Given the description of an element on the screen output the (x, y) to click on. 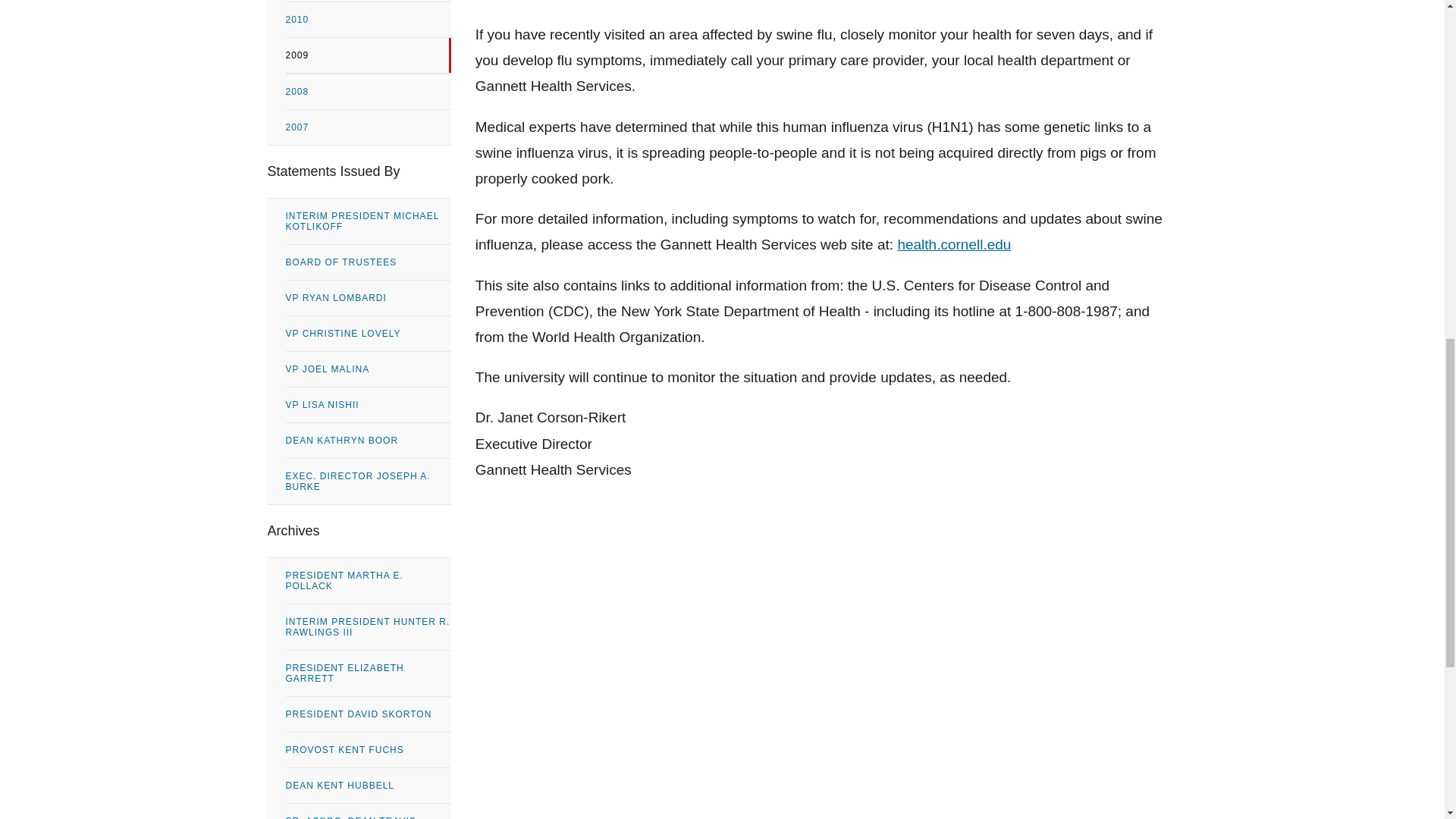
2007 (367, 126)
2009 (367, 54)
2010 (367, 19)
VP JOEL MALINA (367, 369)
PROVOST KENT FUCHS (367, 749)
INTERIM PRESIDENT MICHAEL KOTLIKOFF (367, 221)
PRESIDENT DAVID SKORTON (367, 714)
INTERIM PRESIDENT HUNTER R. RAWLINGS III (367, 627)
BOARD OF TRUSTEES (367, 262)
Archives (357, 531)
VP CHRISTINE LOVELY (367, 333)
EXEC. DIRECTOR JOSEPH A. BURKE (367, 481)
DEAN KATHRYN BOOR (367, 440)
PRESIDENT MARTHA E. POLLACK (367, 580)
